Given the description of an element on the screen output the (x, y) to click on. 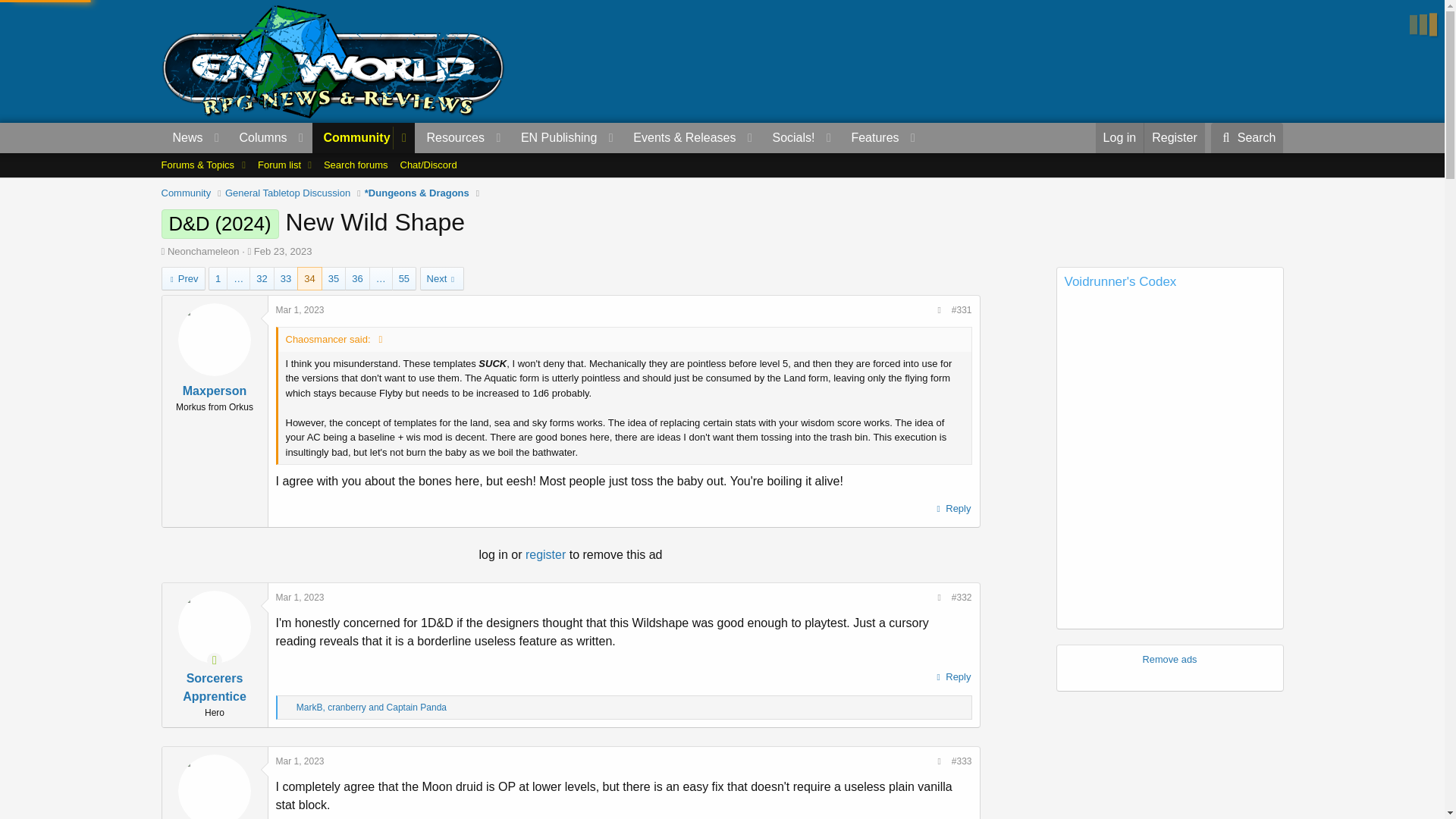
3rd party ad content (1006, 61)
Feb 23, 2023 at 6:28 PM (283, 251)
Search (1247, 137)
Reply, quoting this message (952, 508)
News (182, 137)
Stick out tongue    :p (854, 478)
Mar 1, 2023 at 12:07 PM (300, 760)
Mar 1, 2023 at 7:11 AM (300, 309)
Reply, quoting this message (952, 676)
Community (353, 137)
Mar 1, 2023 at 10:56 AM (300, 597)
Like (288, 707)
Columns (269, 137)
